Given the description of an element on the screen output the (x, y) to click on. 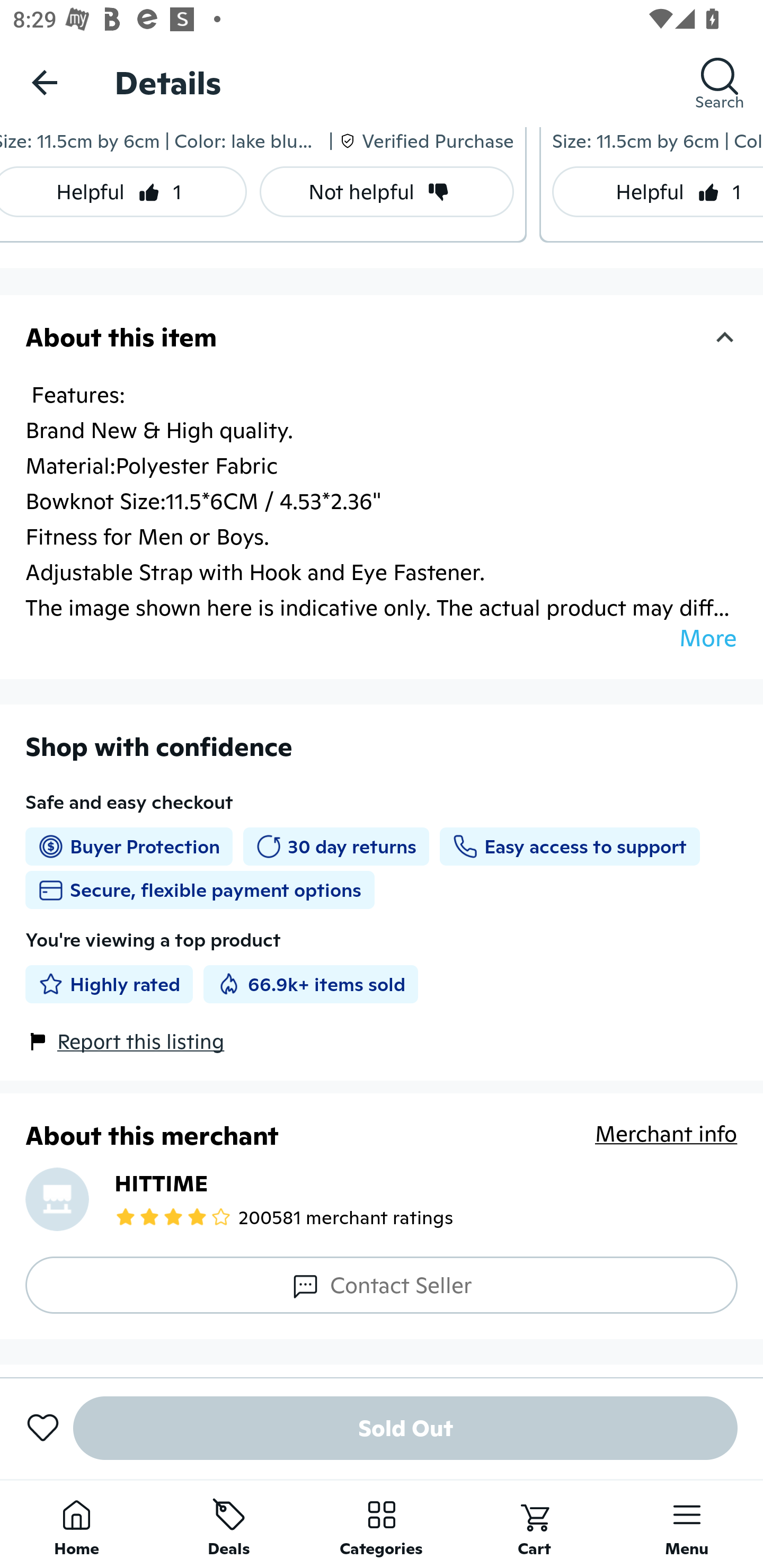
Navigate up (44, 82)
Search (719, 82)
Helpful 1 (123, 191)
Not helpful (386, 191)
Helpful 1 (657, 191)
About this item (381, 336)
More (708, 637)
Buyer Protection (128, 846)
30 day returns (335, 846)
Easy access to support (569, 846)
Secure, flexible payment options (199, 889)
Highly rated (109, 984)
66.9k+ items sold (310, 984)
Report this listing (140, 1041)
Merchant info (666, 1143)
HITTIME 4.2 Star Rating 200581 merchant ratings (381, 1199)
Contact Seller (381, 1284)
Sold Out (405, 1428)
Home (76, 1523)
Deals (228, 1523)
Categories (381, 1523)
Cart (533, 1523)
Menu (686, 1523)
